Given the description of an element on the screen output the (x, y) to click on. 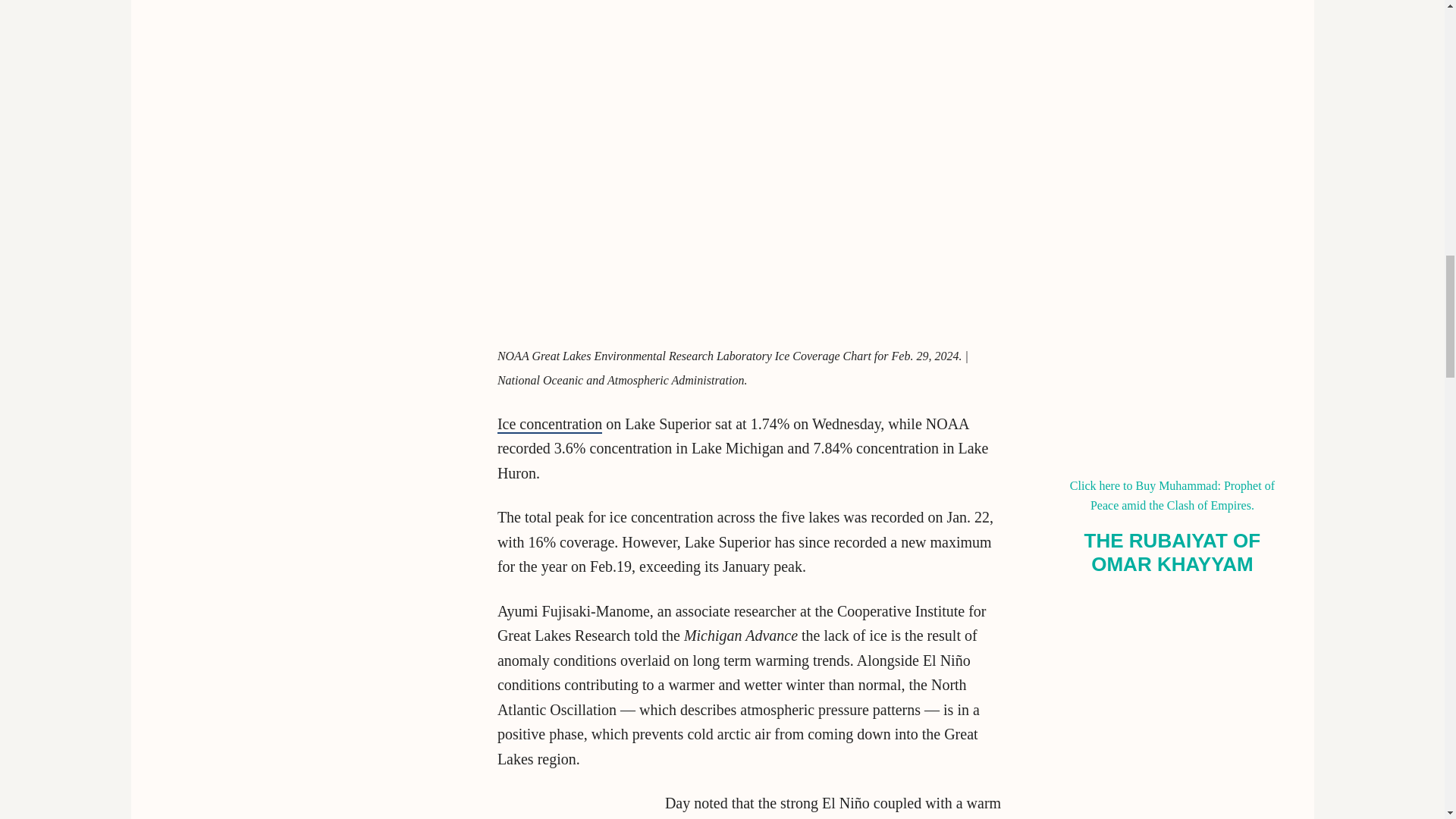
Ice concentration (549, 424)
